Given the description of an element on the screen output the (x, y) to click on. 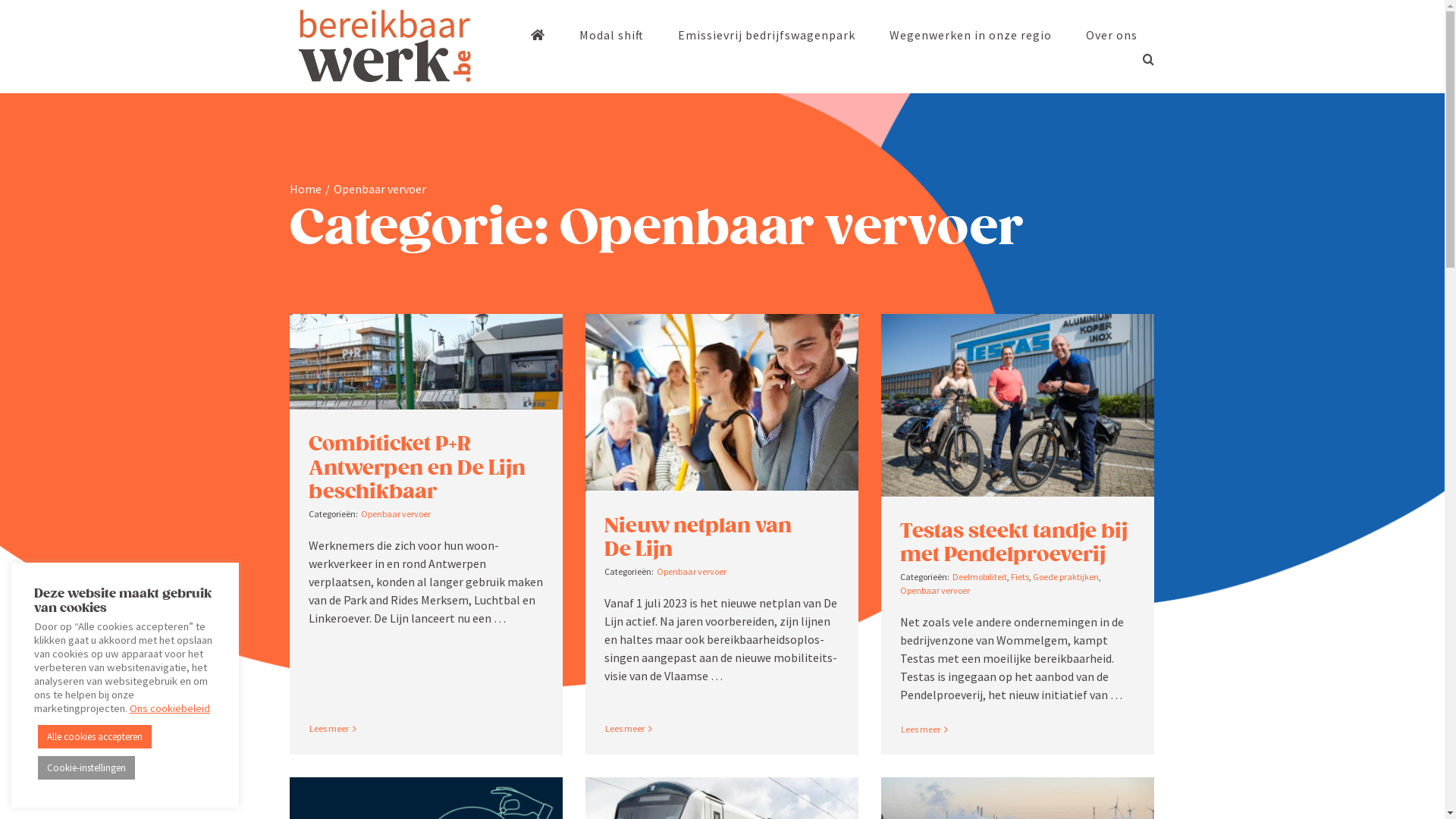
Alle cookies accepteren Element type: text (94, 736)
Over ons Element type: text (1111, 34)
Openbaar vervoer Element type: text (691, 571)
Testas steekt tandje bij met Pendelproeverij Element type: text (1013, 542)
Fiets Element type: text (1019, 576)
Openbaar vervoer Element type: text (395, 513)
Read More Element type: text (920, 728)
Read More Element type: text (624, 728)
Read More Element type: text (328, 728)
Search Element type: hover (1148, 59)
Openbaar vervoer Element type: text (934, 590)
Modal shift Element type: text (611, 34)
Nieuw netplan van De Lijn Element type: text (697, 537)
Goede praktijken Element type: text (1065, 576)
Home Element type: text (305, 188)
Ons cookiebeleid Element type: text (169, 708)
Cookie-instellingen Element type: text (85, 767)
